Given the description of an element on the screen output the (x, y) to click on. 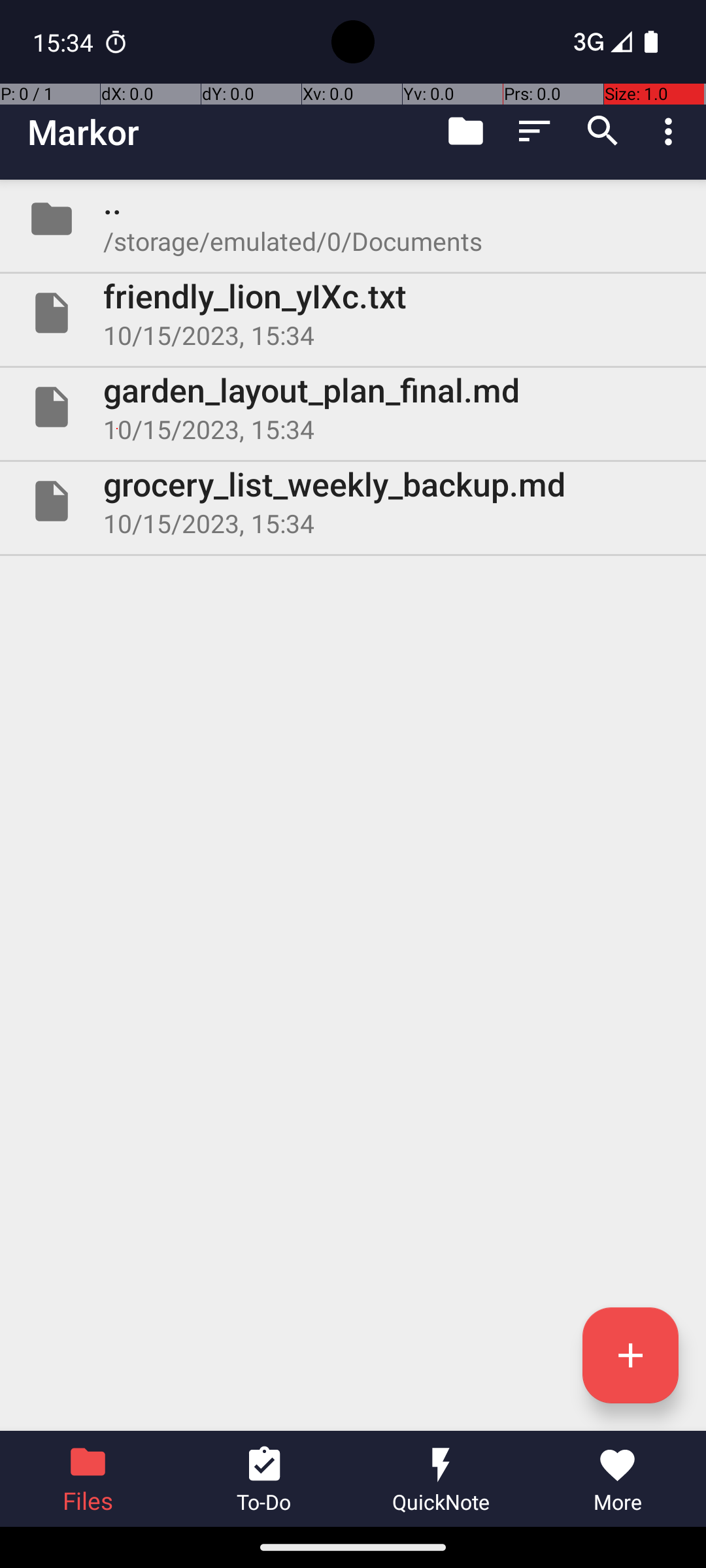
File friendly_lion_yIXc.txt  Element type: android.widget.LinearLayout (353, 312)
File garden_layout_plan_final.md  Element type: android.widget.LinearLayout (353, 406)
File grocery_list_weekly_backup.md  Element type: android.widget.LinearLayout (353, 500)
